Given the description of an element on the screen output the (x, y) to click on. 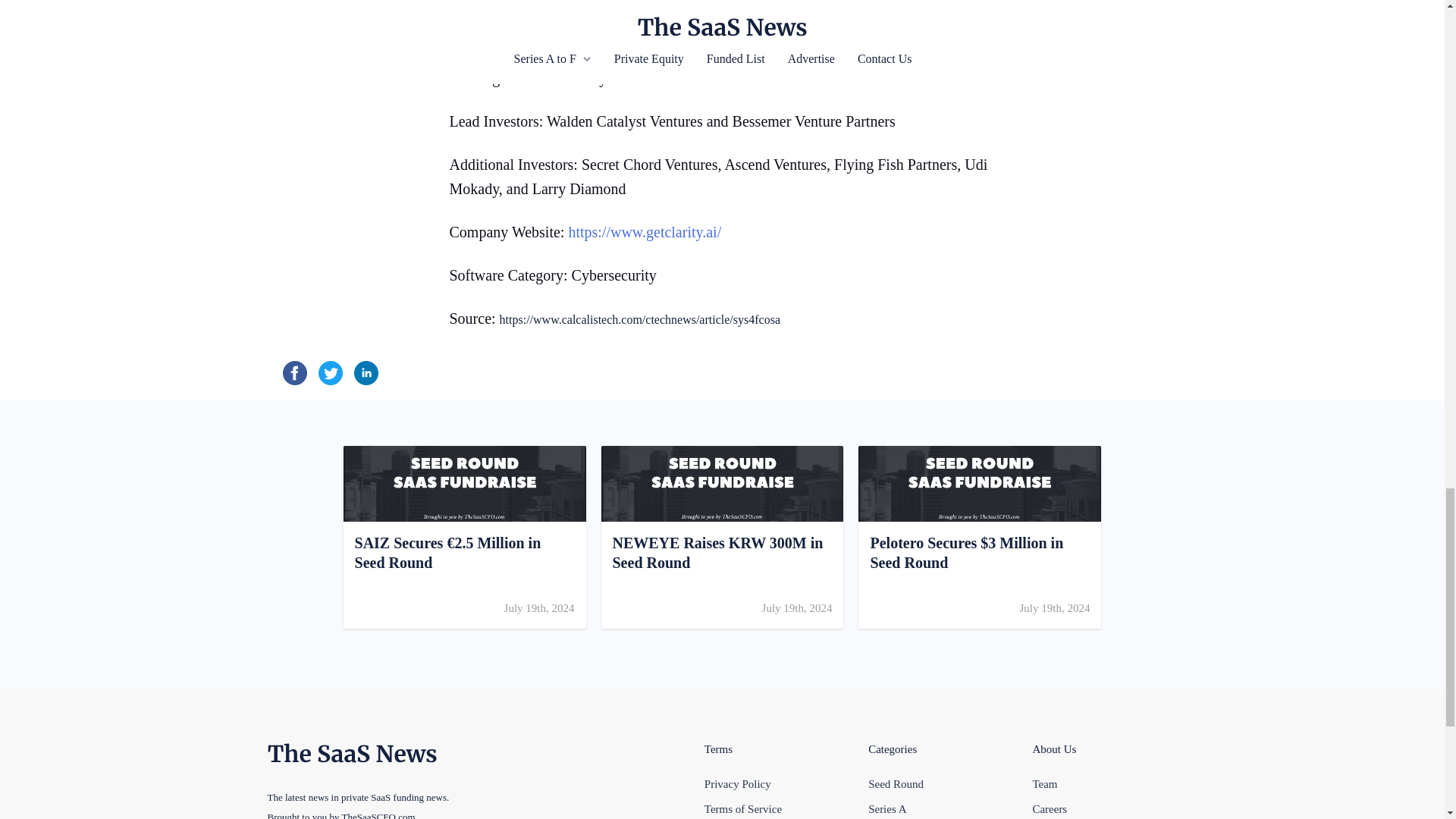
Team (1044, 784)
Series A (886, 808)
Privacy Policy (737, 784)
Careers (721, 536)
Terms of Service (1049, 808)
Seed Round (742, 808)
